Given the description of an element on the screen output the (x, y) to click on. 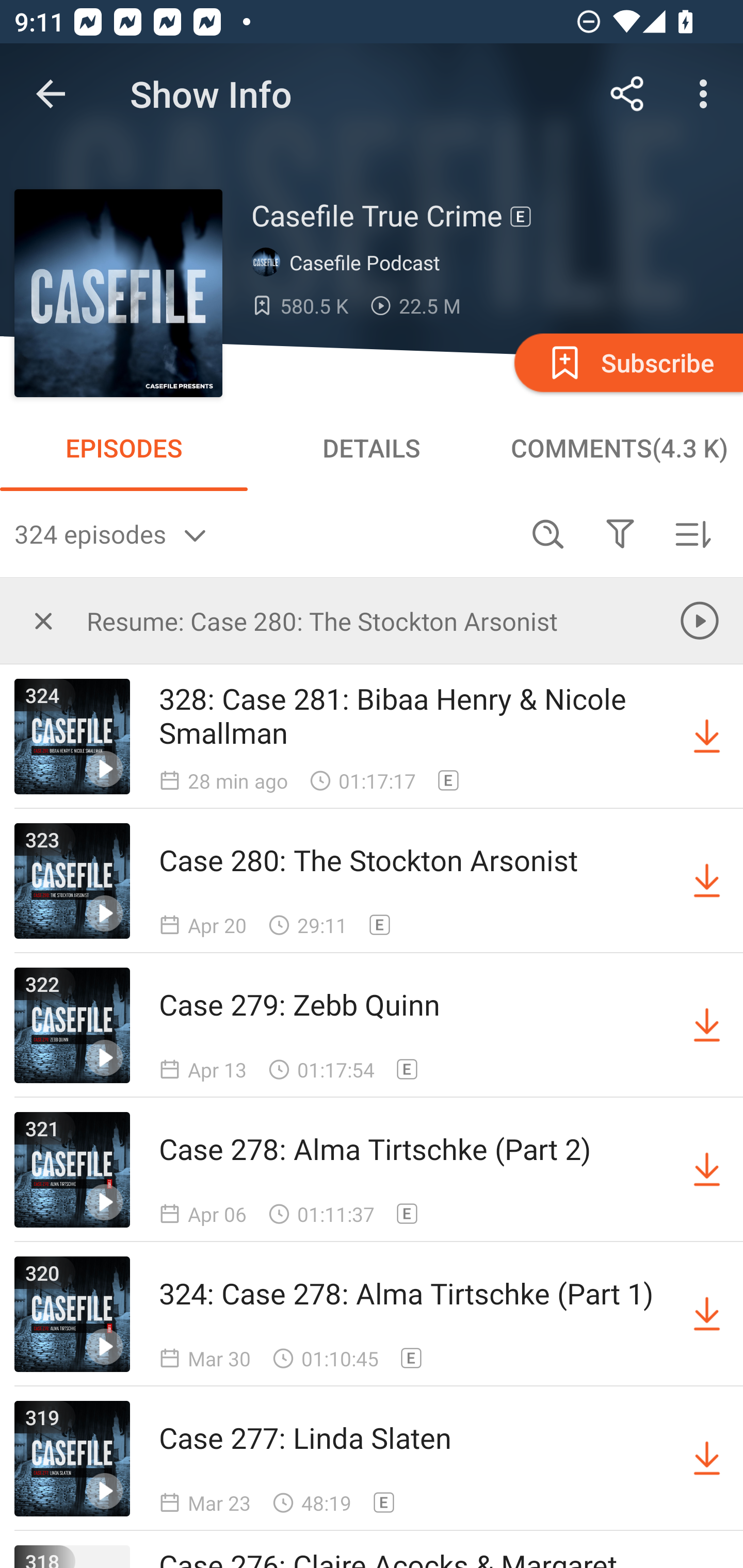
Navigate up (50, 93)
Share (626, 93)
More options (706, 93)
Casefile Podcast (350, 262)
Subscribe (627, 361)
EPISODES (123, 447)
DETAILS (371, 447)
COMMENTS(4.3 K) (619, 447)
324 episodes  (262, 533)
 Search (547, 533)
 (619, 533)
 Sorted by newest first (692, 533)
 (43, 620)
Download (706, 736)
Download (706, 881)
Download (706, 1025)
Download (706, 1169)
Download (706, 1313)
Download (706, 1458)
